Given the description of an element on the screen output the (x, y) to click on. 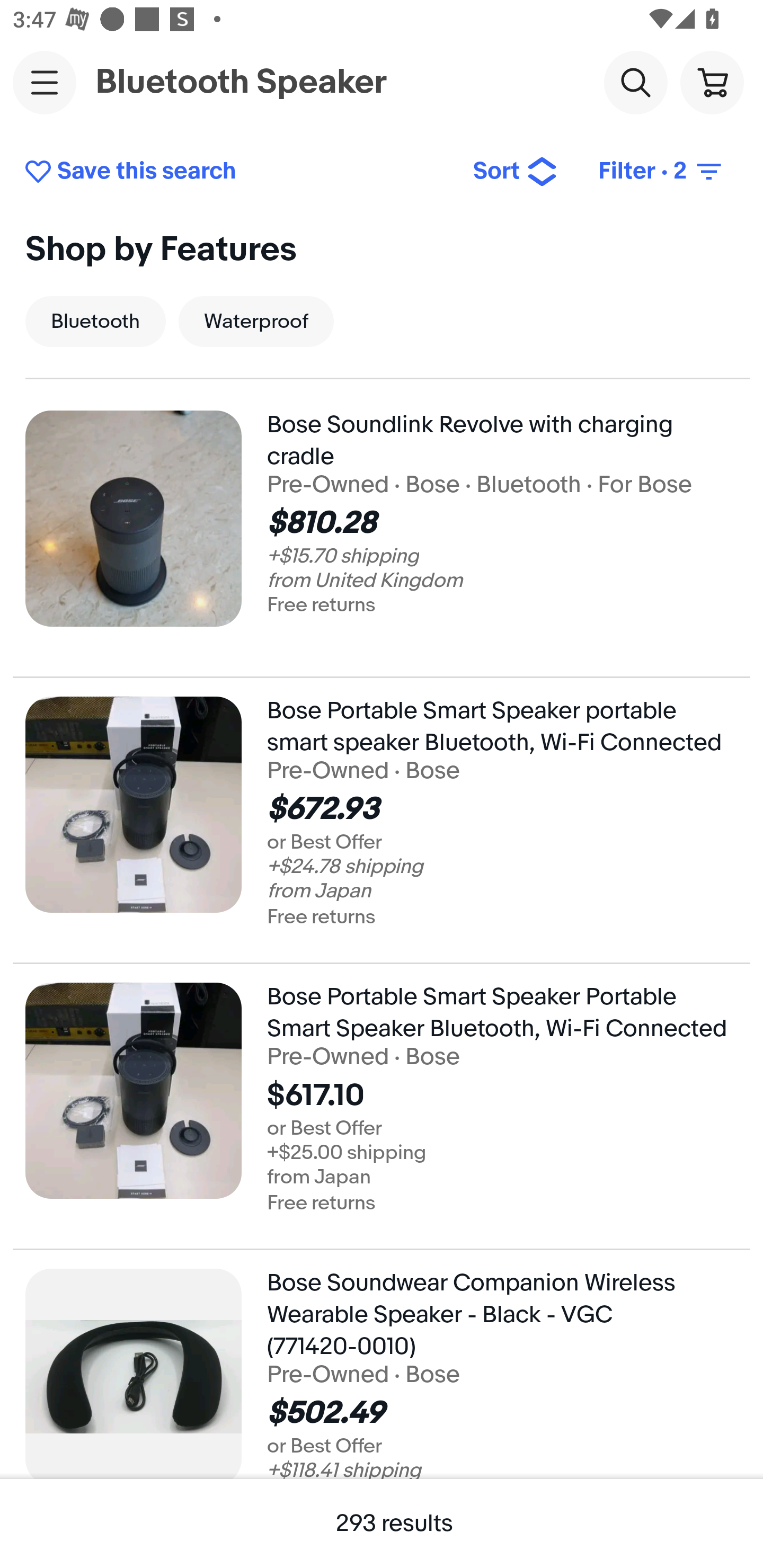
Main navigation, open (44, 82)
Search (635, 81)
Cart button shopping cart (711, 81)
Save this search (235, 171)
Sort (515, 171)
Filter • 2 Filter (2 applied) (661, 171)
Bluetooth Bluetooth, Features (95, 321)
Waterproof Waterproof, Features (256, 321)
